Given the description of an element on the screen output the (x, y) to click on. 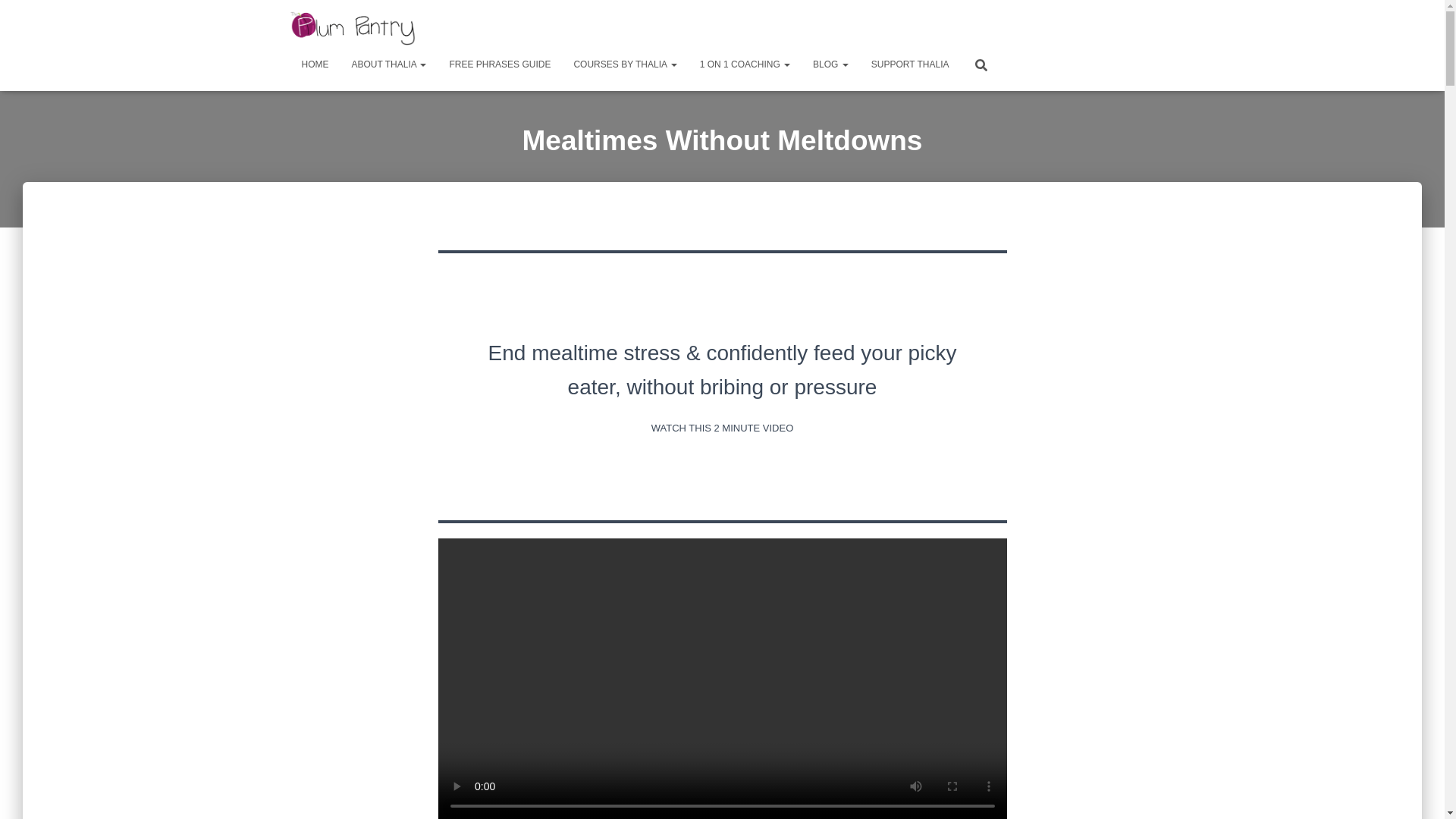
The Plum Pantry (353, 26)
Search (16, 16)
1 ON 1 COACHING (745, 64)
SUPPORT THALIA (910, 64)
Home (314, 64)
HOME (314, 64)
Courses by Thalia (624, 64)
Free Phrases Guide (500, 64)
ABOUT THALIA (388, 64)
BLOG (831, 64)
